Given the description of an element on the screen output the (x, y) to click on. 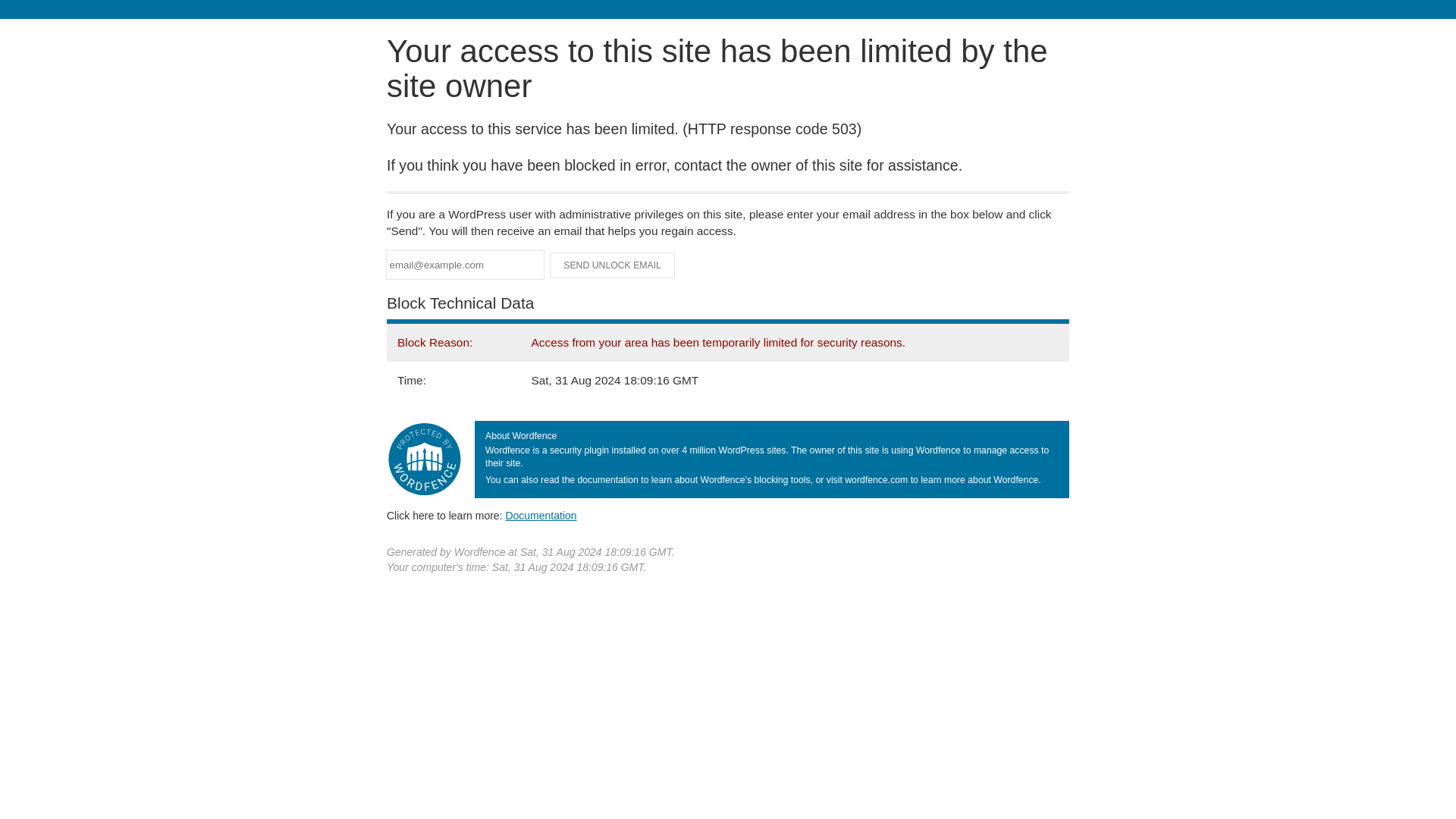
Send Unlock Email (612, 265)
Send Unlock Email (612, 265)
Documentation (540, 515)
